Given the description of an element on the screen output the (x, y) to click on. 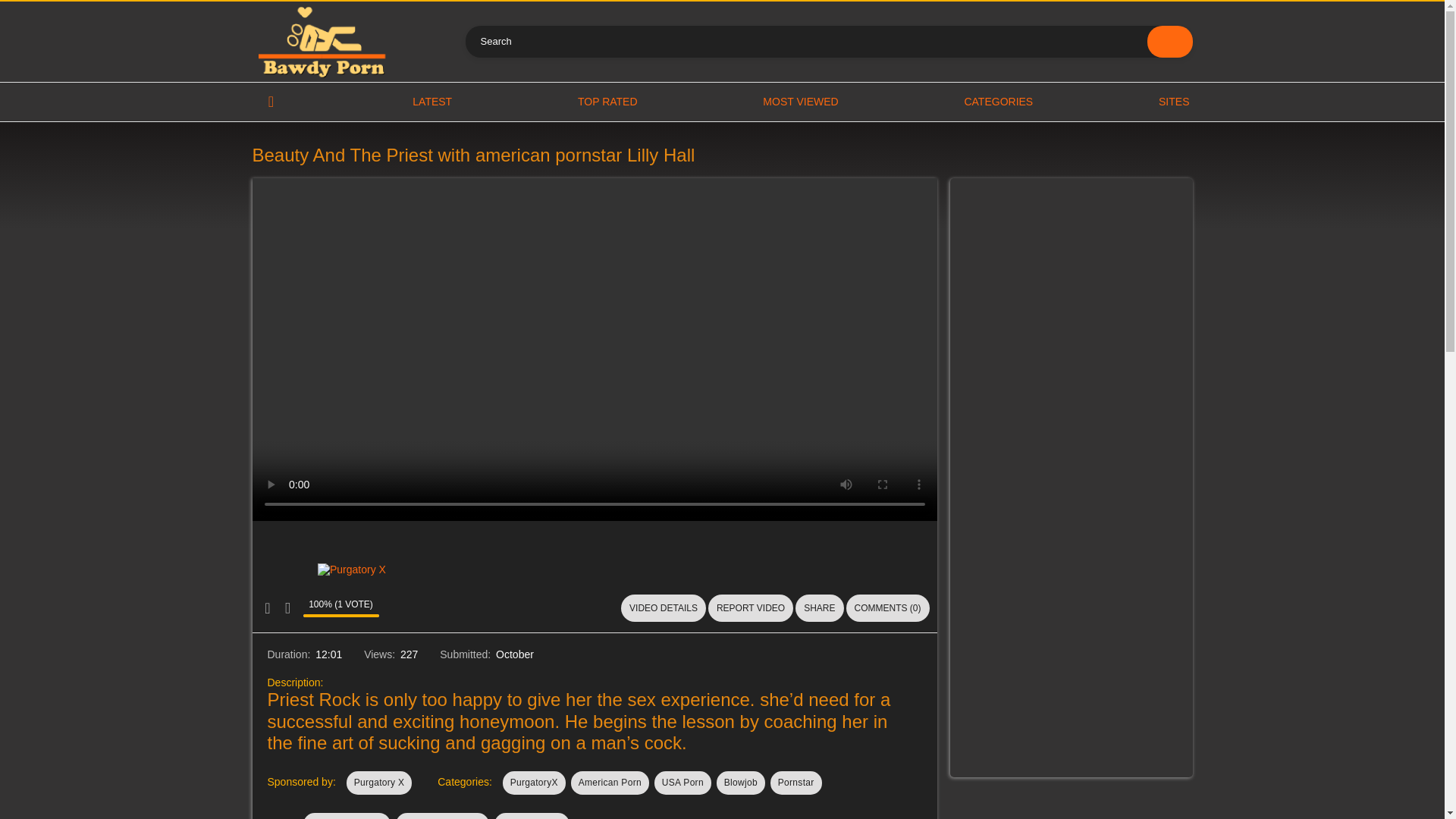
USA Porn (682, 782)
SHARE (818, 607)
American Porn (609, 782)
VIDEO DETAILS (663, 607)
Pornstar (796, 782)
SITES (1174, 101)
MOST VIEWED (800, 101)
LATEST (431, 101)
I like this video (267, 607)
PurgatoryX (534, 782)
Purgatory X (379, 782)
Blowjob Pornstar (346, 816)
REPORT VIDEO (750, 607)
I don't like this video (287, 607)
I like this video (267, 607)
